Given the description of an element on the screen output the (x, y) to click on. 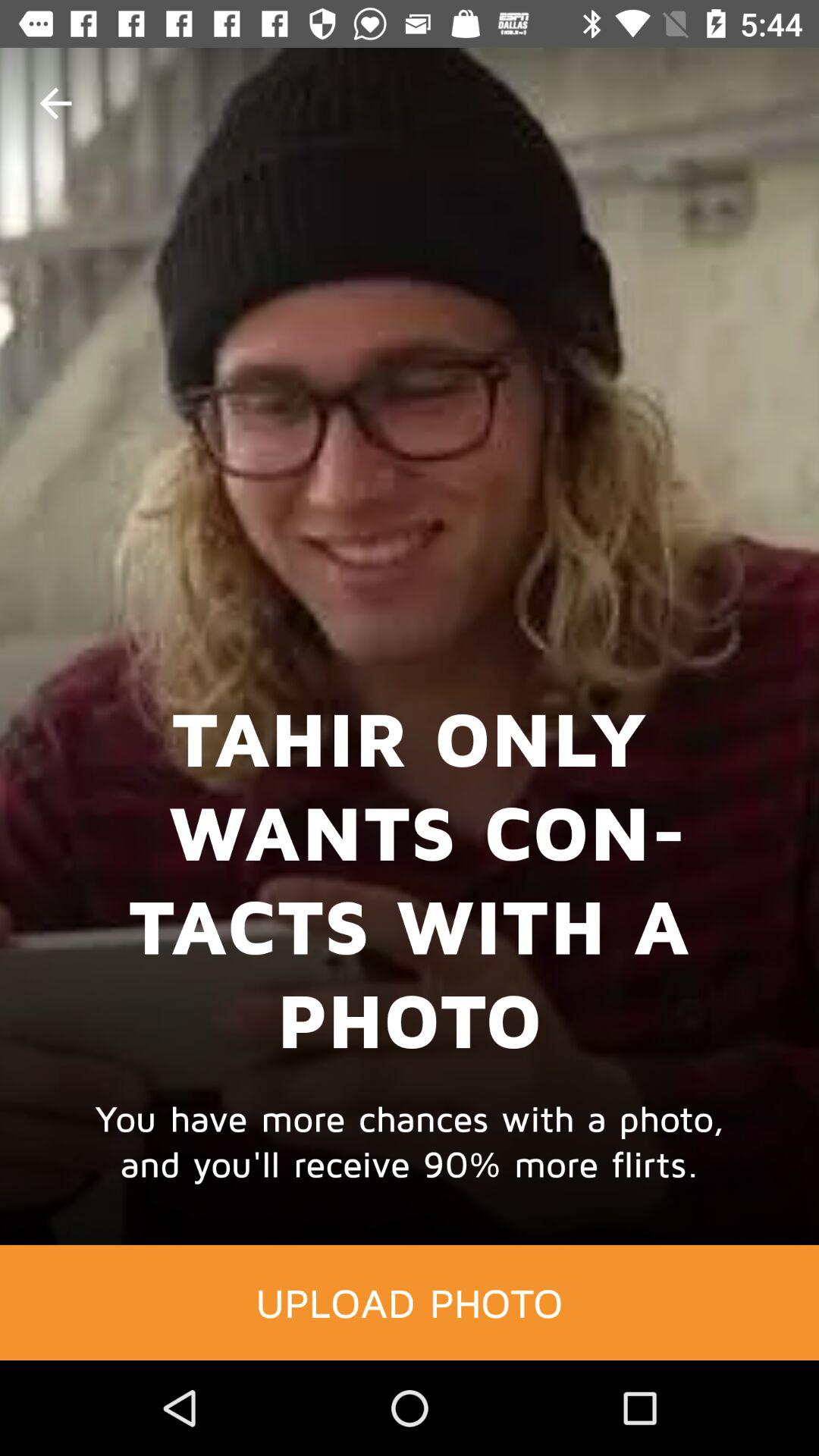
choose upload photo (409, 1302)
